Given the description of an element on the screen output the (x, y) to click on. 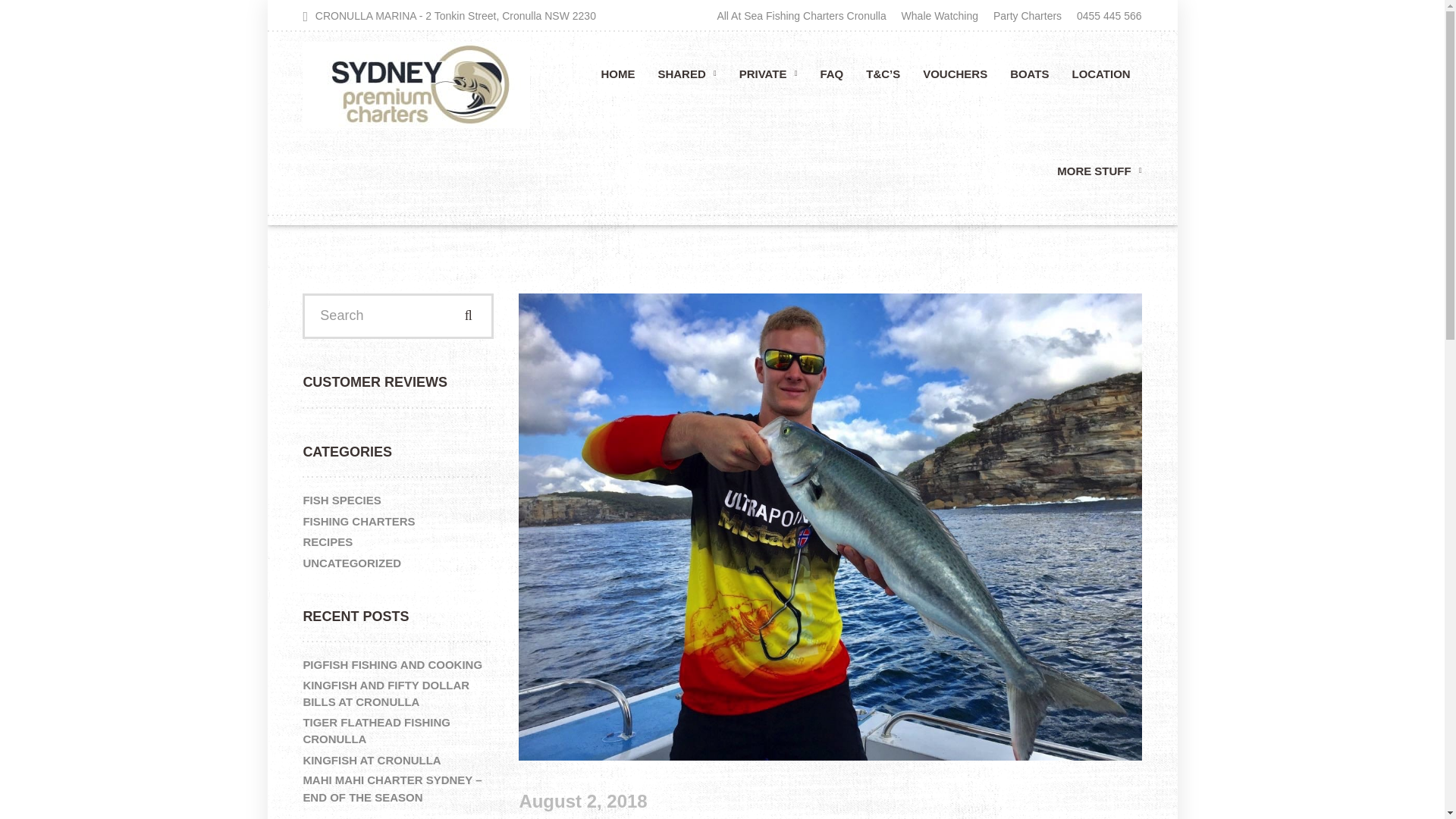
PIGFISH FISHING AND COOKING (391, 665)
KINGFISH AND FIFTY DOLLAR BILLS AT CRONULLA (395, 693)
All At Sea Fishing Charters Cronulla (803, 15)
0455 445 566 (1105, 15)
Whale Watching (939, 15)
VOUCHERS (954, 78)
UNCATEGORIZED (351, 562)
FISHING CHARTERS (358, 521)
MORE STUFF (1093, 176)
Party Charters (1027, 15)
RECIPES (327, 542)
August 2, 2018 (582, 802)
FISH SPECIES (341, 501)
